Given the description of an element on the screen output the (x, y) to click on. 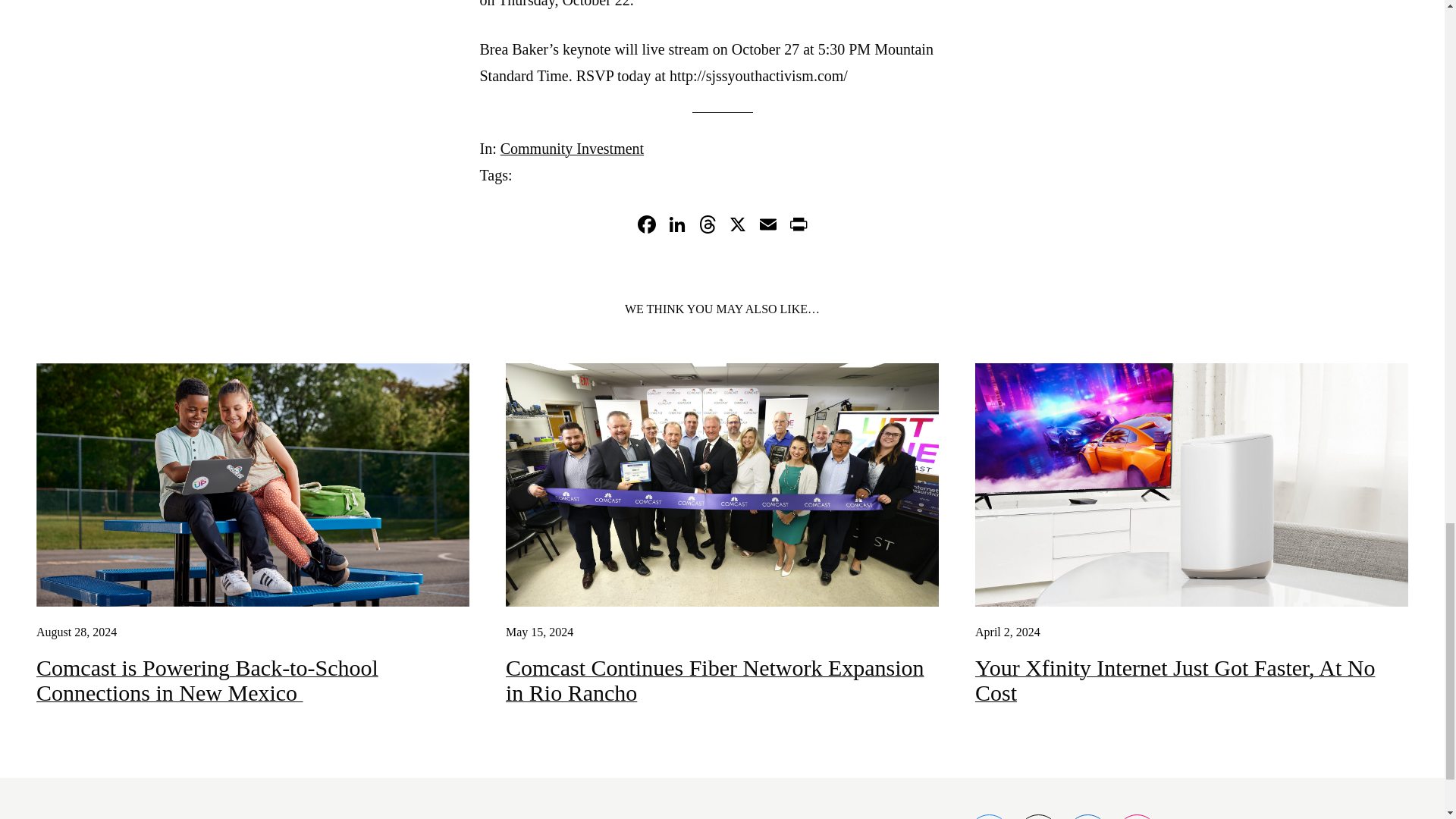
PrintFriendly (797, 226)
Facebook (645, 226)
Facebook (645, 226)
Email (767, 226)
LinkedIn (676, 226)
X (737, 226)
X (737, 226)
Email (767, 226)
Community Investment (571, 148)
